Given the description of an element on the screen output the (x, y) to click on. 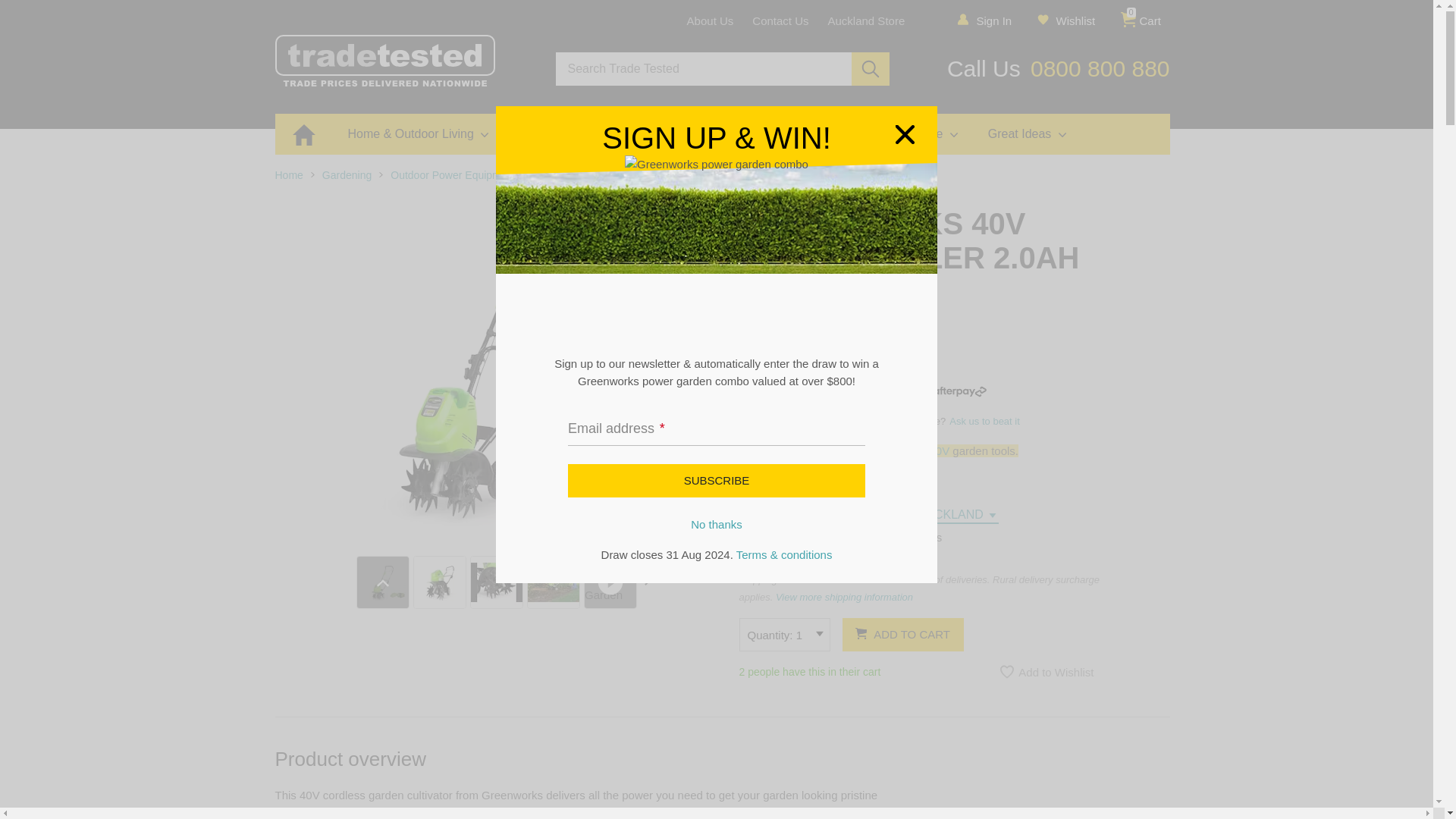
Rotary Tillers (565, 174)
Gardening (1149, 20)
ADD TO CART (346, 174)
Read more (901, 634)
About Us (766, 484)
View more shipping information (710, 20)
Outdoor Power Equipment (844, 597)
Outdoor Power Equipment (452, 174)
Wishlist (452, 174)
4.4 out of 5 stars from 40 reviews (1074, 20)
Contact Us (919, 336)
homepage (780, 20)
SUBSCRIBE (288, 174)
Gardening (715, 480)
